Given the description of an element on the screen output the (x, y) to click on. 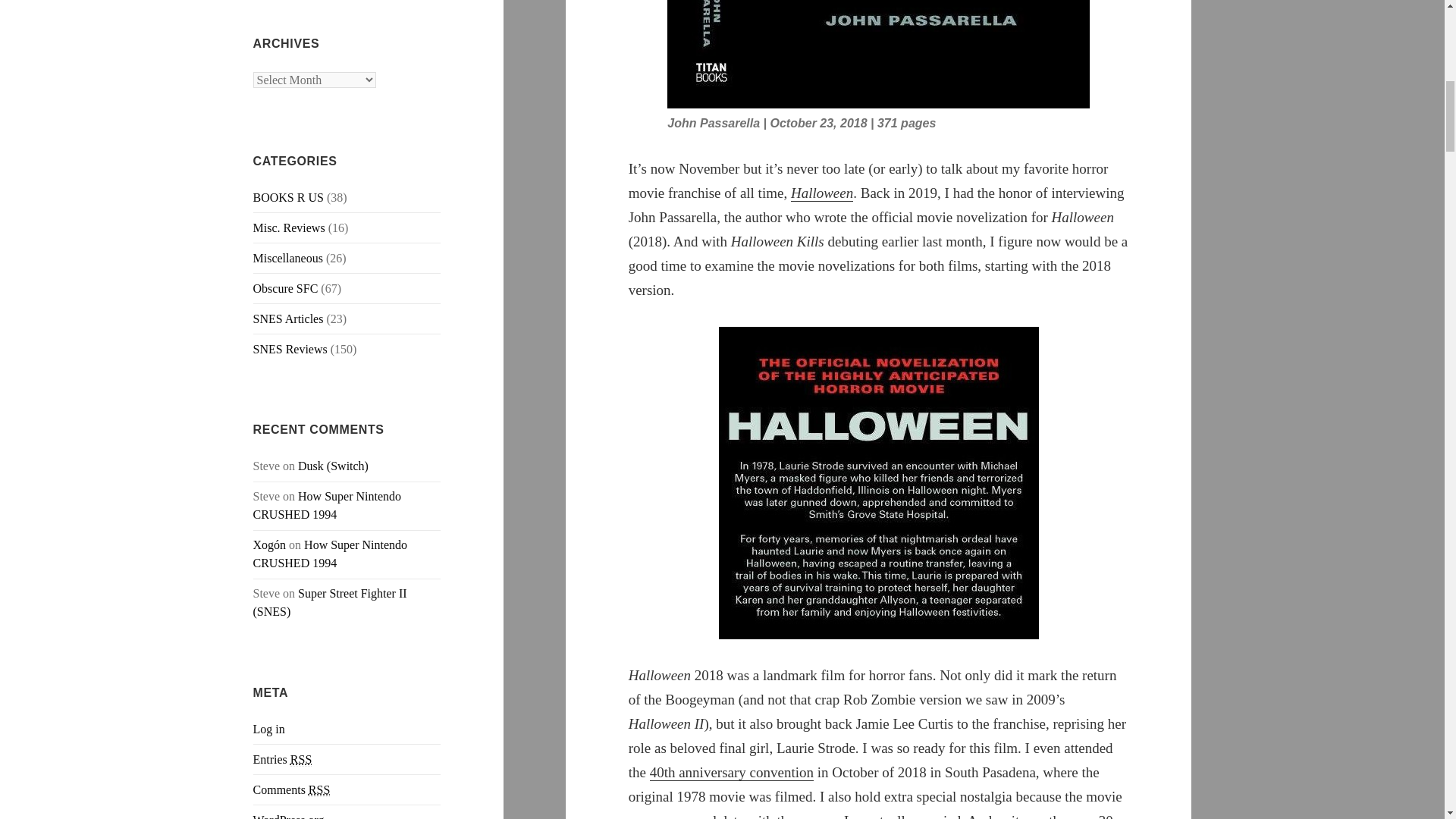
Comments RSS (291, 789)
Log in (269, 728)
Halloween II (731, 772)
Obscure SFC (285, 287)
How Super Nintendo CRUSHED 1994 (327, 504)
Really Simple Syndication (319, 789)
Misc. Reviews (288, 227)
Halloween (821, 193)
SNES Articles (288, 318)
Halloween (821, 193)
Really Simple Syndication (300, 759)
WordPress.org (288, 816)
BOOKS R US (288, 196)
How Super Nintendo CRUSHED 1994 (330, 553)
